Given the description of an element on the screen output the (x, y) to click on. 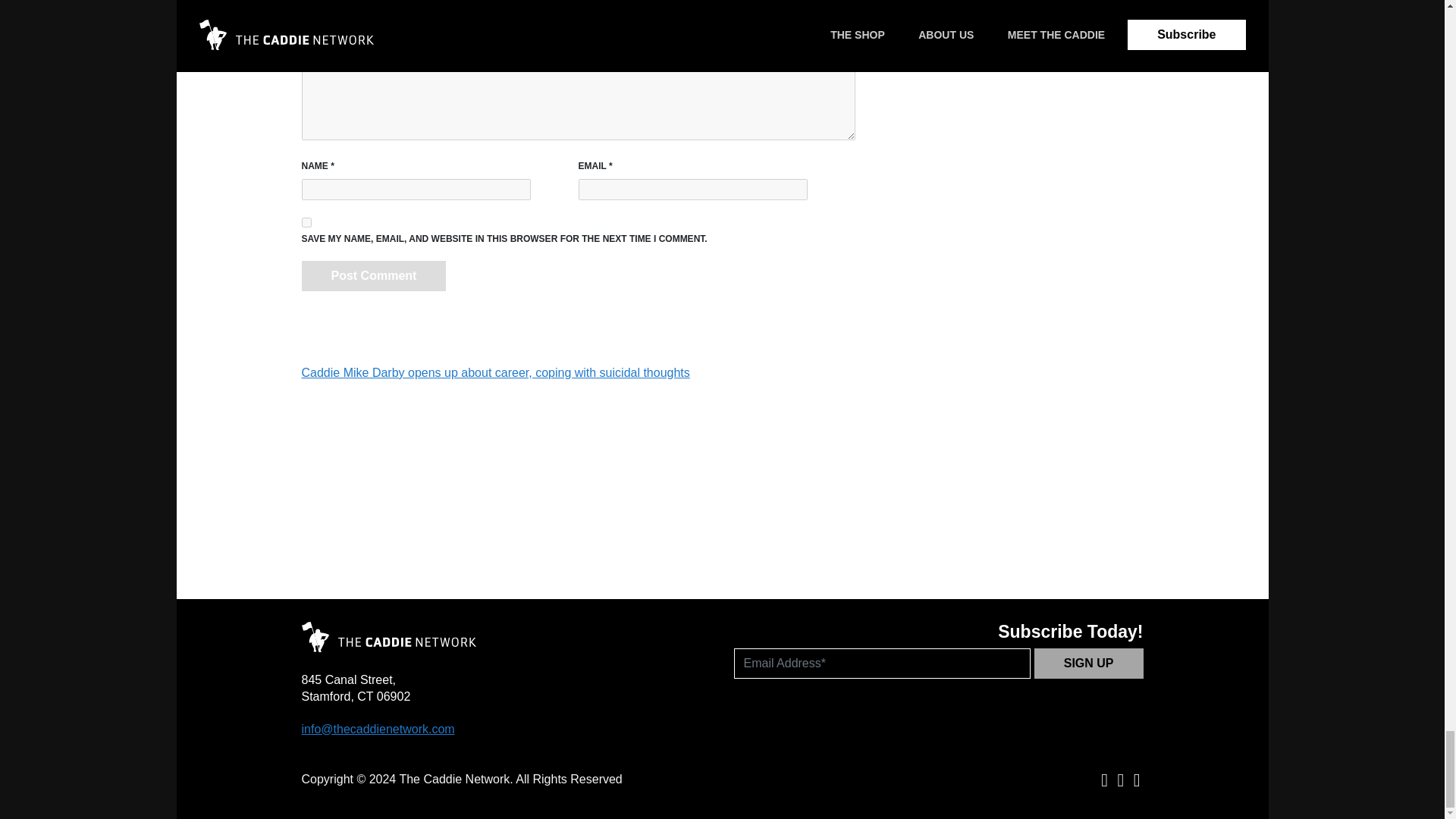
Group Created with Sketch. (388, 636)
Post Comment (373, 276)
Post Comment (373, 276)
yes (306, 222)
